Given the description of an element on the screen output the (x, y) to click on. 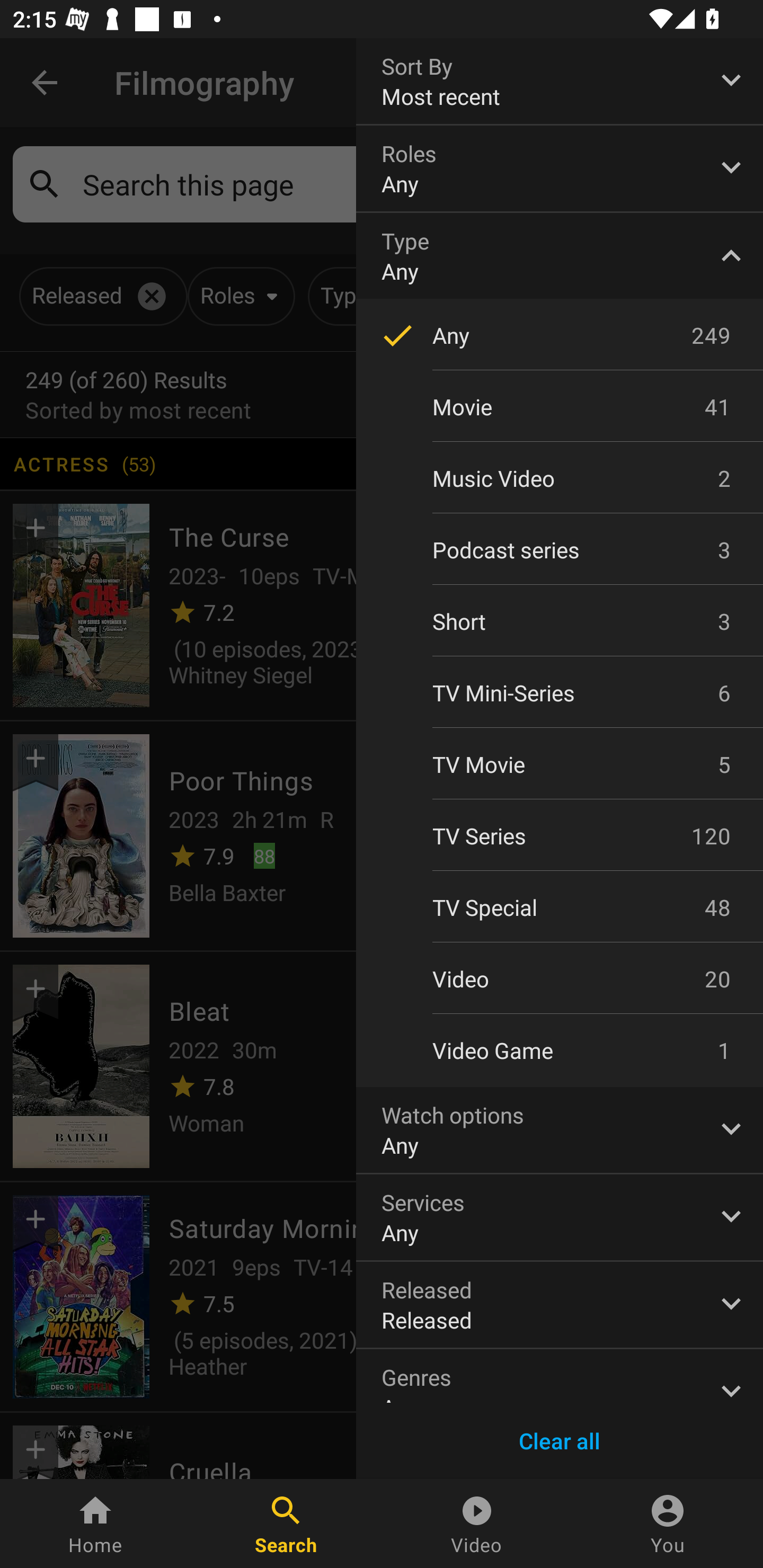
Sort By Most recent (559, 80)
Roles Any (559, 168)
Type Any (559, 256)
Any 249 (559, 335)
Movie 41 (559, 406)
Music Video 2 (559, 477)
Podcast series 3 (559, 549)
Short 3 (559, 621)
TV Mini-Series 6 (559, 692)
TV Movie 5 (559, 764)
TV Series 120 (559, 835)
TV Special 48 (559, 906)
Video 20 (559, 978)
Video Game 1 (559, 1050)
Watch options Any (559, 1129)
Services Any (559, 1217)
Released (559, 1304)
Genres Any (559, 1375)
Clear all (559, 1440)
Home (95, 1523)
Video (476, 1523)
You (667, 1523)
